Given the description of an element on the screen output the (x, y) to click on. 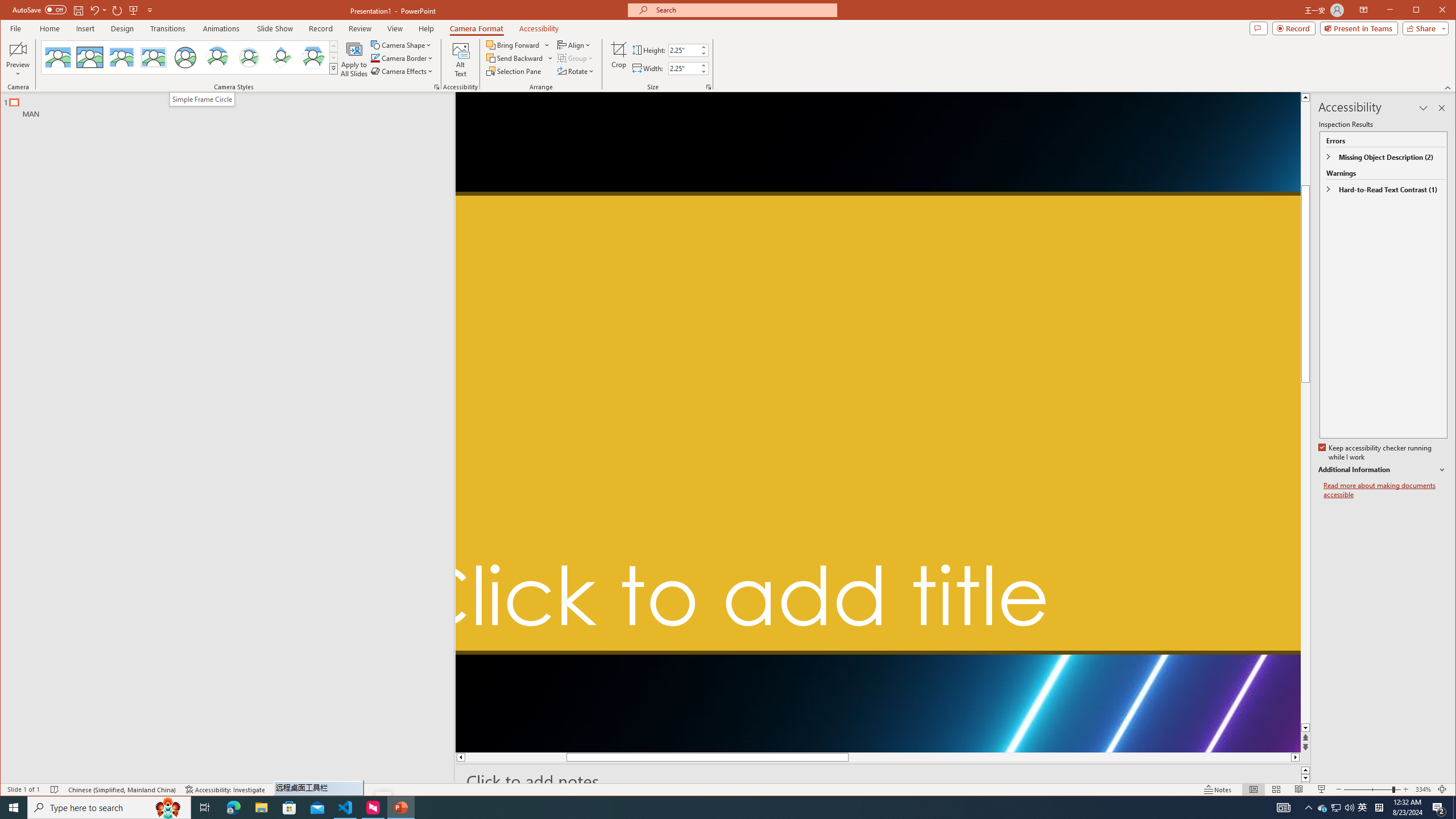
AutomationID: CameoStylesGallery (189, 57)
Crop (618, 59)
No Style (58, 57)
Center Shadow Hexagon (313, 57)
Camera Format (476, 28)
Group (576, 57)
Camera Effects (402, 70)
